Given the description of an element on the screen output the (x, y) to click on. 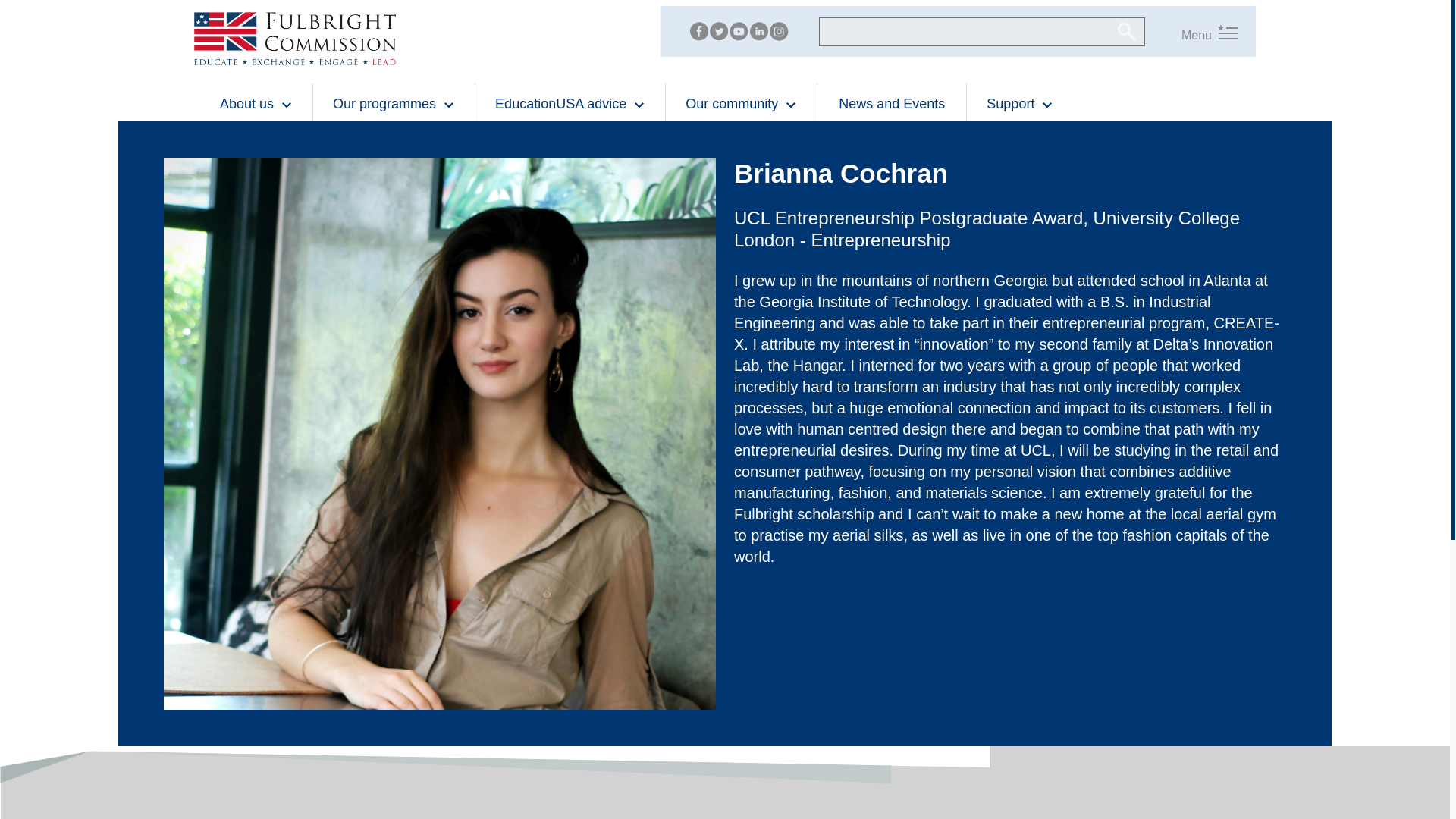
Menu (1198, 34)
Our programmes (393, 103)
About us (256, 103)
